Given the description of an element on the screen output the (x, y) to click on. 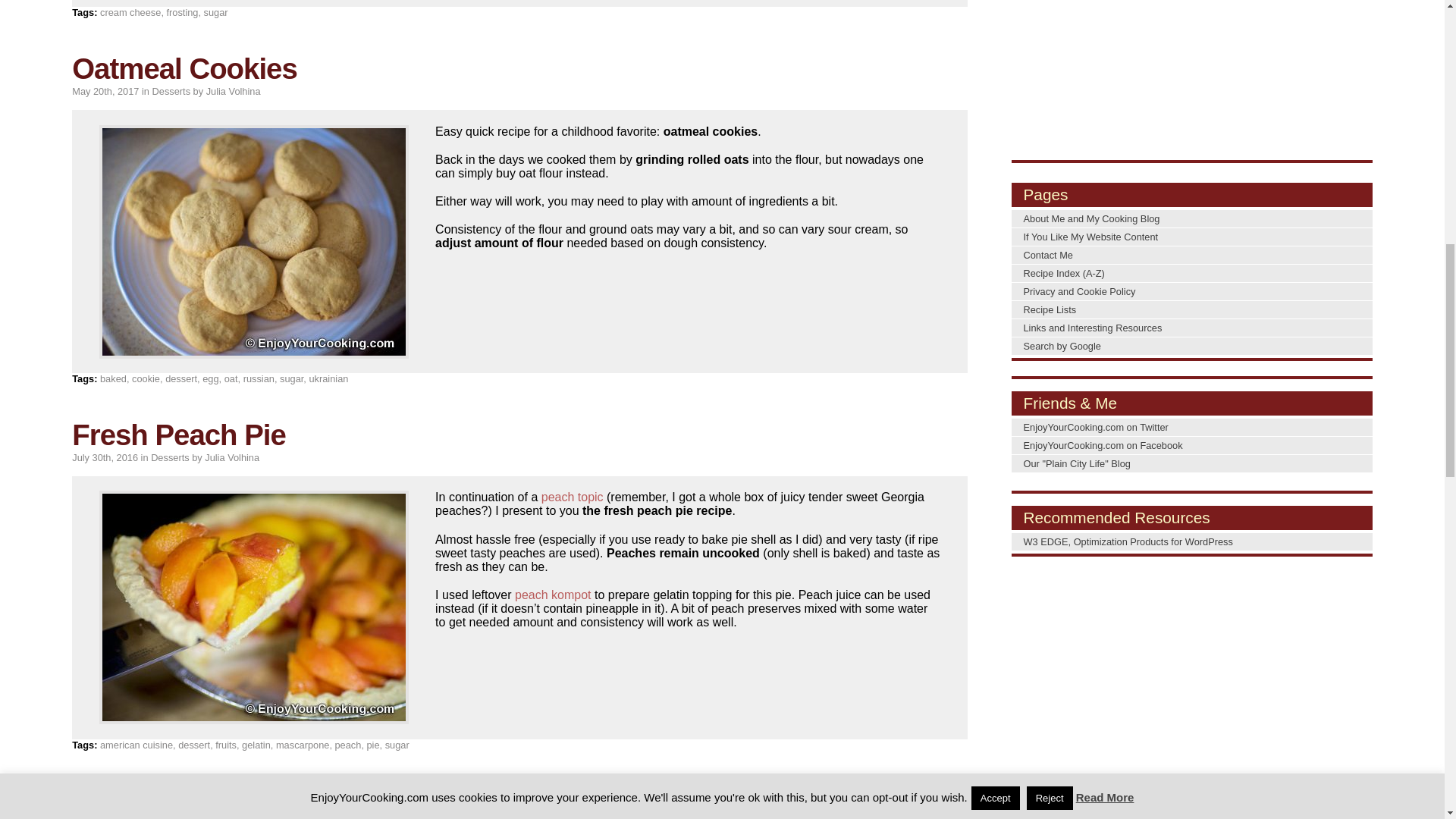
Permanent Link to Fresh Peach Pie (178, 434)
baked (113, 378)
Permanent Link to Oatmeal Cookies (184, 68)
Permanent Link to Sour Cherry Kompot (208, 800)
sugar (215, 12)
cream cheese (130, 12)
Desserts (171, 91)
cookie (146, 378)
frosting (182, 12)
Oatmeal Cookies (184, 68)
